Given the description of an element on the screen output the (x, y) to click on. 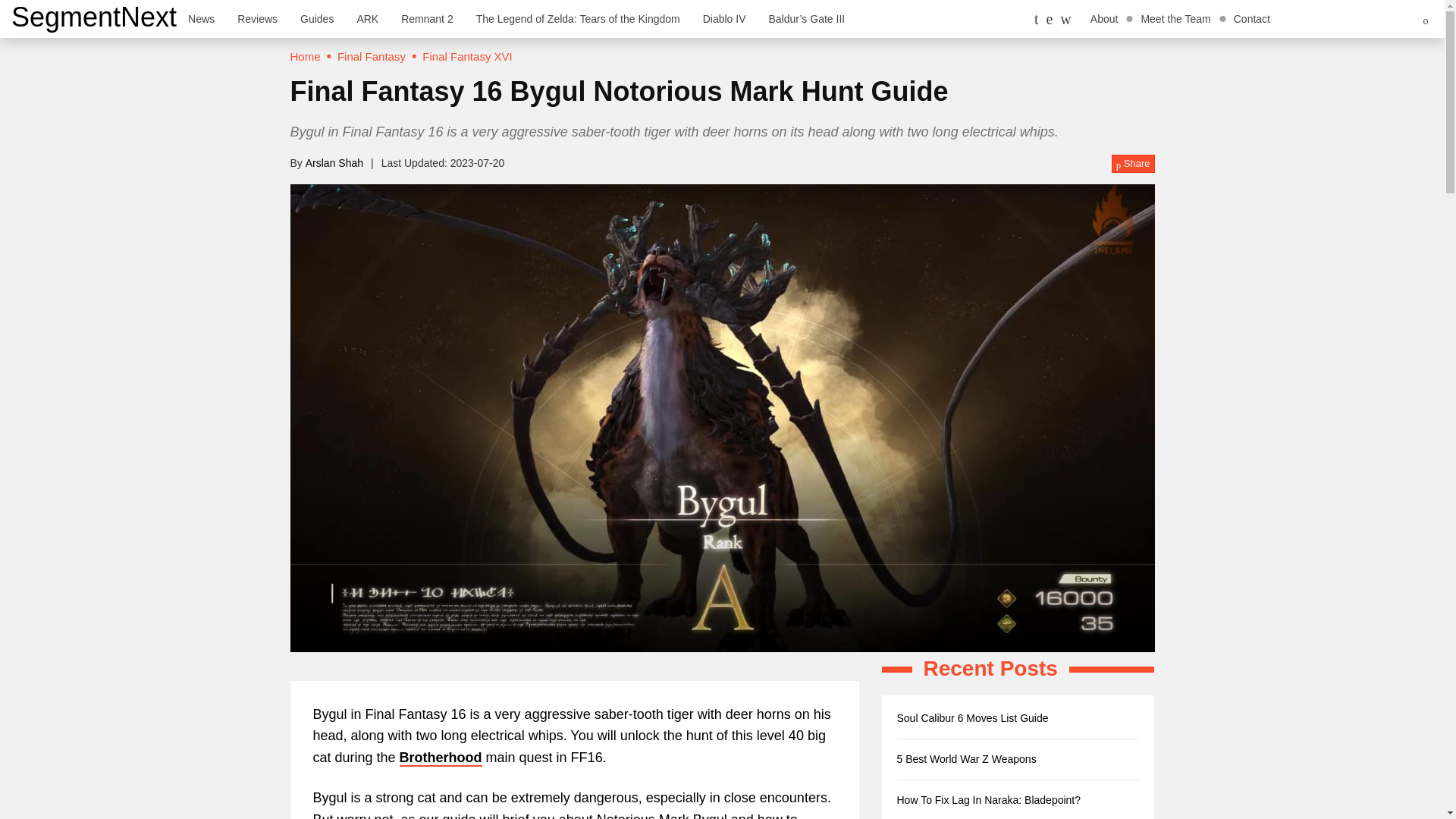
Remnant 2 (427, 18)
Baldur's Gate III (807, 18)
Diablo IV (724, 18)
Meet the Team (1175, 18)
Guides (316, 18)
Reviews (256, 18)
Contact (1252, 18)
The Legend of Zelda: Tears of the Kingdom (577, 18)
Reviews (256, 18)
News (200, 18)
Remnant 2 (427, 18)
Final Fantasy XVI (467, 56)
About (1103, 18)
Arslan Shah (333, 162)
Final Fantasy (371, 56)
